Given the description of an element on the screen output the (x, y) to click on. 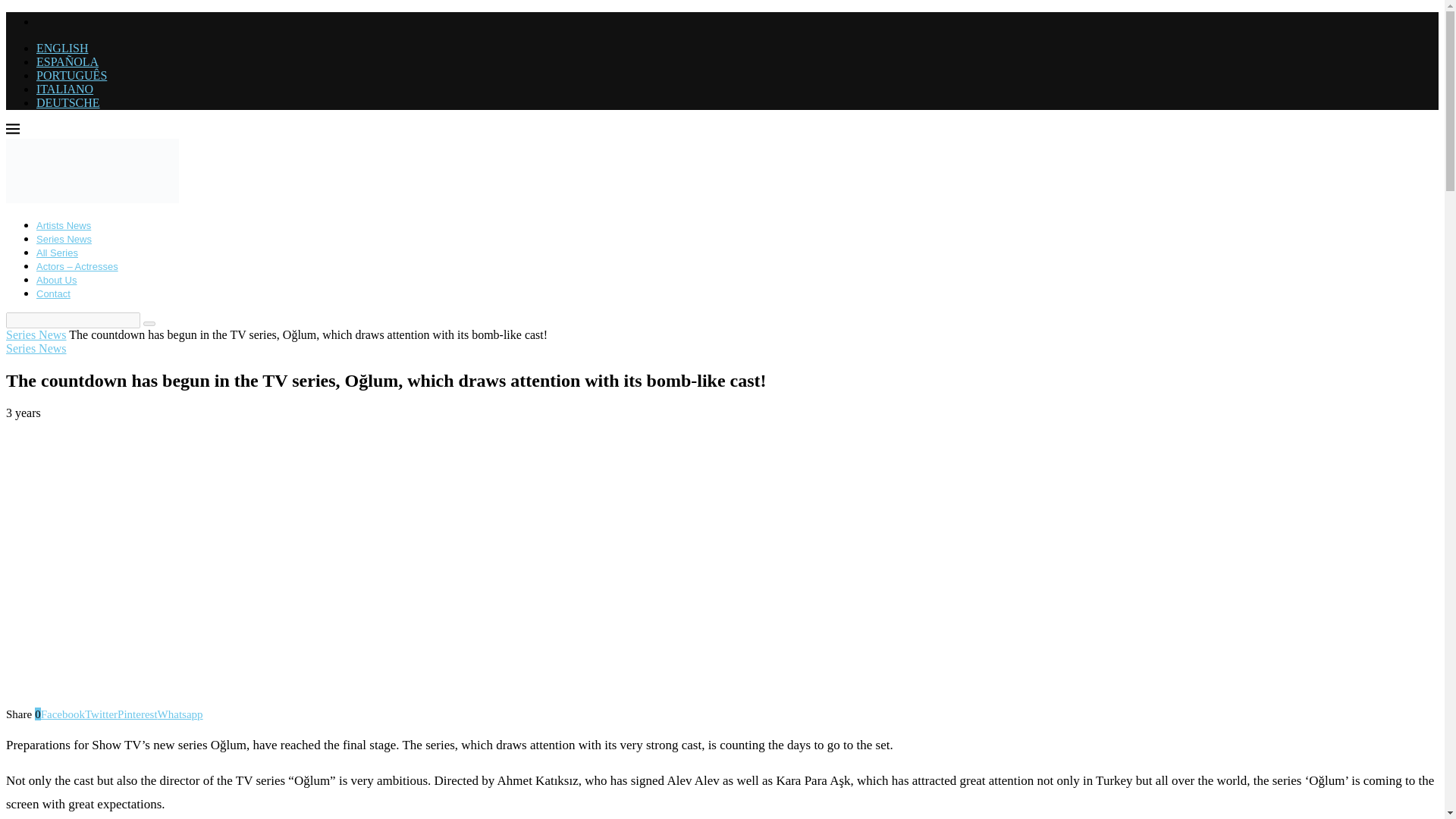
Pinterest (137, 714)
Series News (35, 334)
Series News (35, 348)
Contact (52, 293)
ENGLISH (61, 47)
Twitter (100, 714)
Facebook (62, 714)
Whatsapp (180, 714)
All Series (57, 252)
ITALIANO (64, 88)
